Given the description of an element on the screen output the (x, y) to click on. 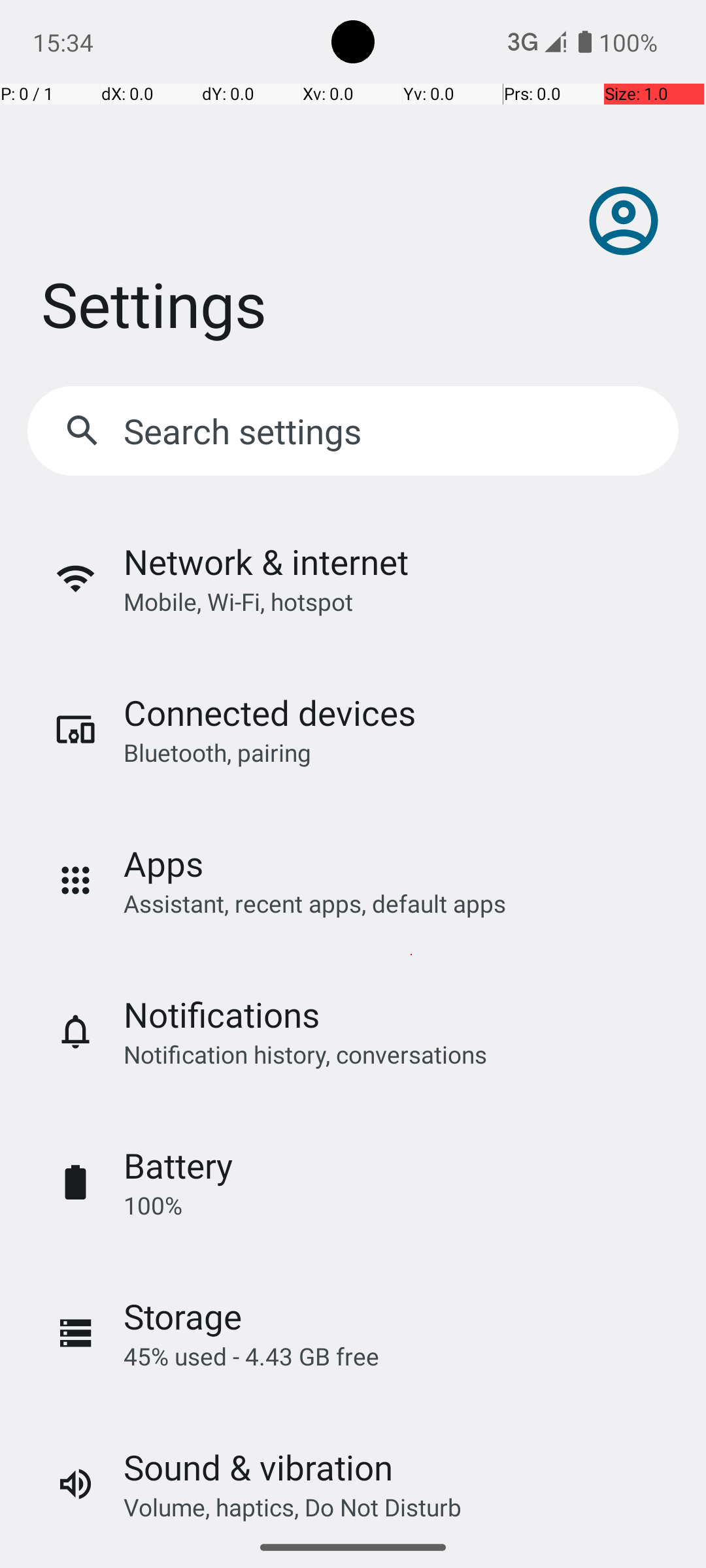
45% used - 4.43 GB free Element type: android.widget.TextView (251, 1355)
